Given the description of an element on the screen output the (x, y) to click on. 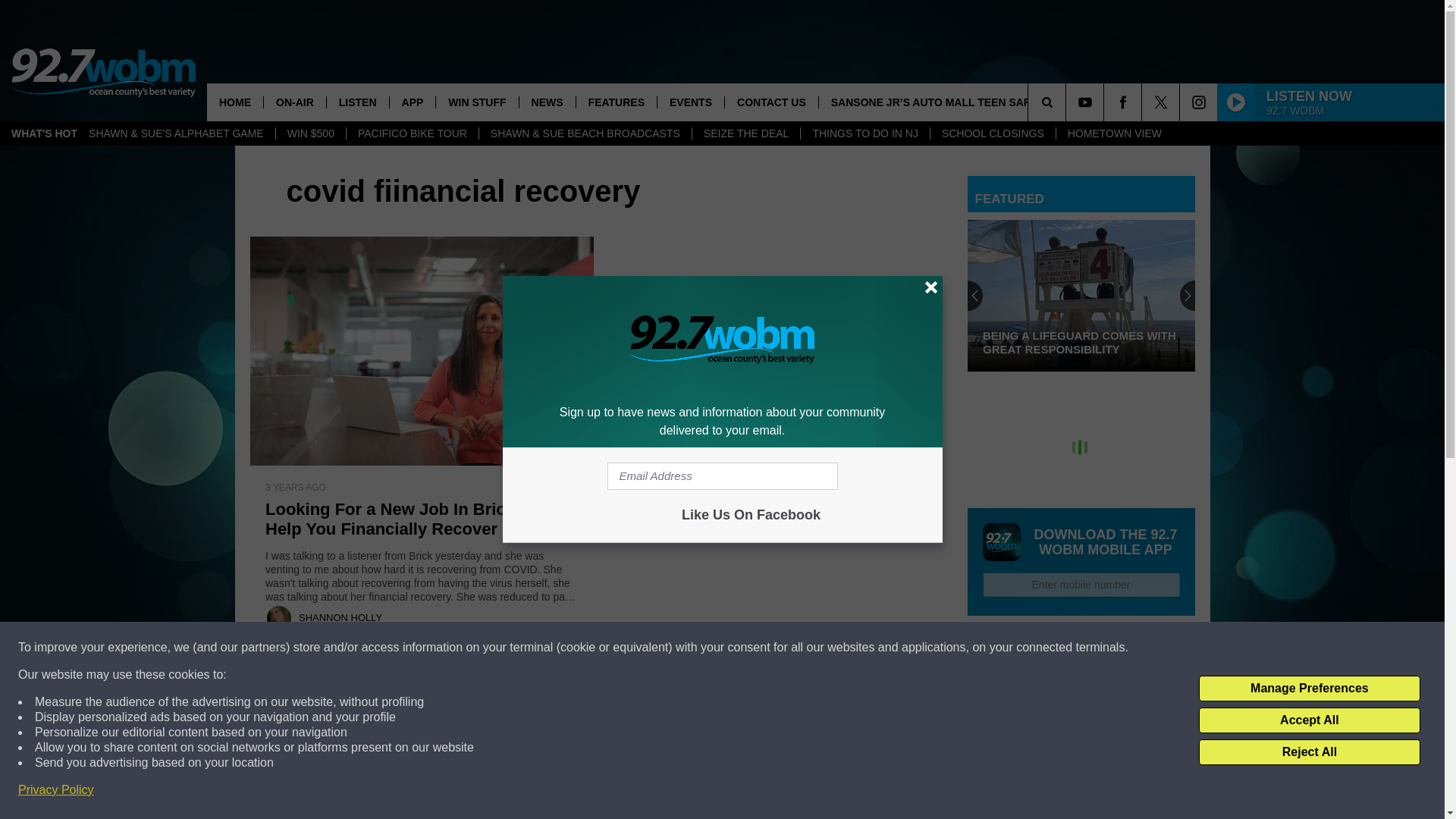
Reject All (1309, 751)
Email Address (722, 475)
APP (411, 102)
HOME (234, 102)
ON-AIR (294, 102)
SEARCH (1068, 102)
THINGS TO DO IN NJ (864, 133)
SEIZE THE DEAL (745, 133)
Privacy Policy (55, 789)
SEARCH (1068, 102)
SCHOOL CLOSINGS (992, 133)
Manage Preferences (1309, 688)
LISTEN (357, 102)
HOMETOWN VIEW (1114, 133)
Accept All (1309, 720)
